Given the description of an element on the screen output the (x, y) to click on. 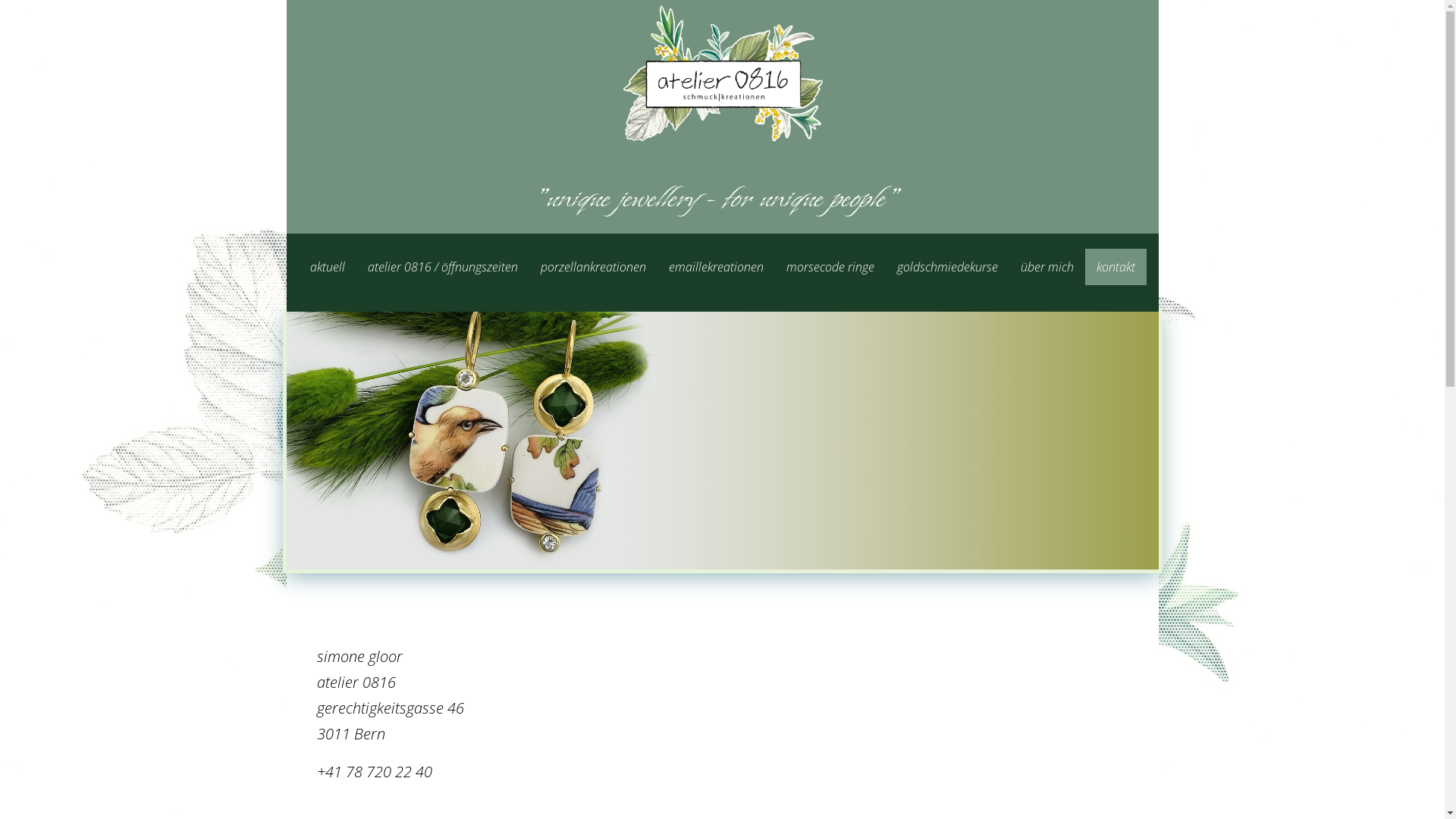
porzellankreationen Element type: text (593, 266)
kontakt Element type: text (1114, 266)
morsecode ringe Element type: text (830, 266)
emaillekreationen Element type: text (715, 266)
aktuell Element type: text (327, 266)
goldschmiedekurse Element type: text (947, 266)
